Given the description of an element on the screen output the (x, y) to click on. 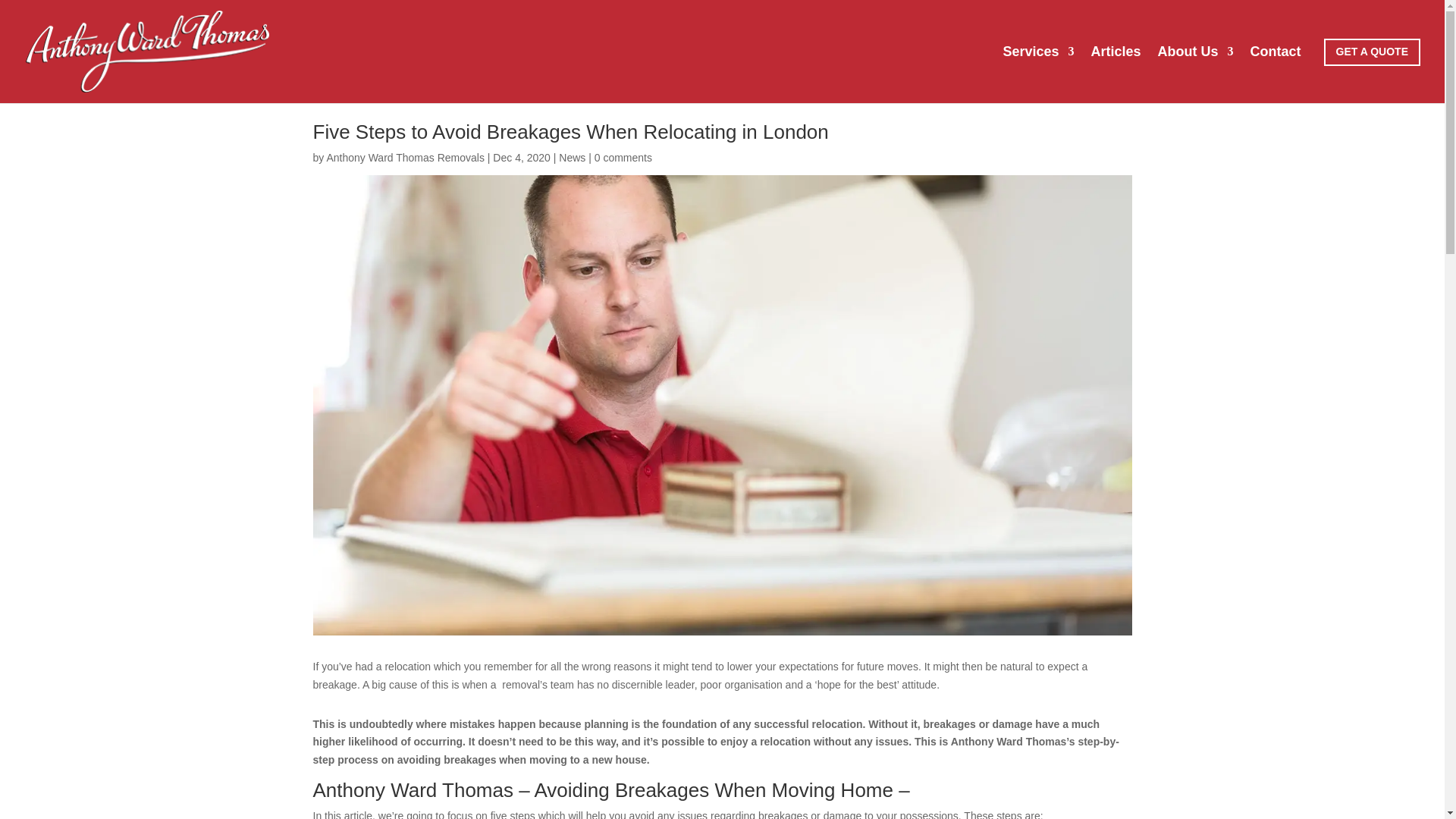
Posts by Anthony Ward Thomas Removals (405, 157)
Services (1038, 74)
About Us (1195, 74)
GET A QUOTE (1372, 52)
